Given the description of an element on the screen output the (x, y) to click on. 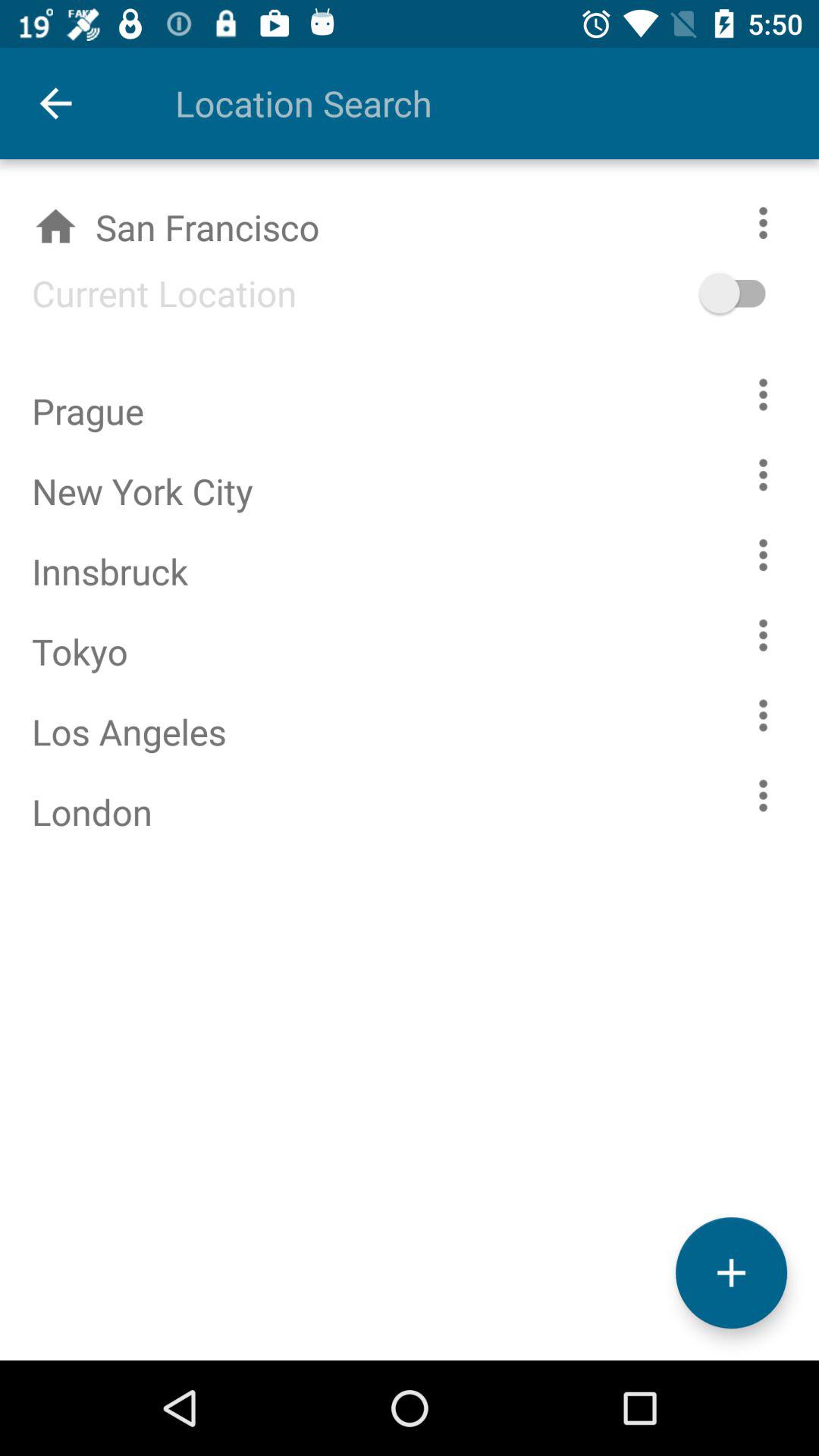
location search option (464, 103)
